Given the description of an element on the screen output the (x, y) to click on. 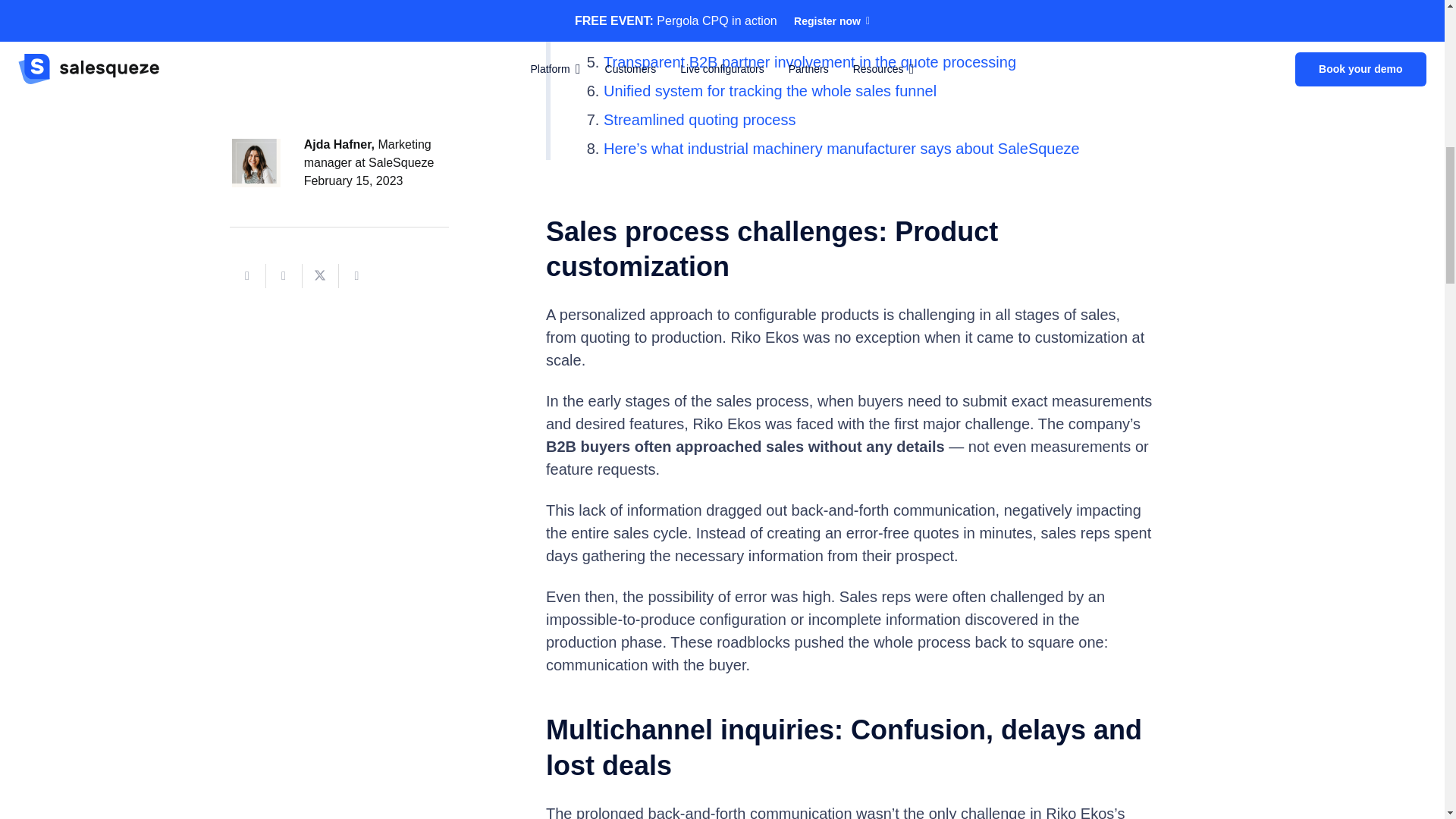
Quote generation in just seven steps (727, 32)
Transparent B2B partner involvement in the quote processing (810, 61)
The Solution: The all-in-one platform for quoting (764, 6)
Streamlined quoting process (699, 118)
Unified system for tracking the whole sales funnel (770, 89)
